Given the description of an element on the screen output the (x, y) to click on. 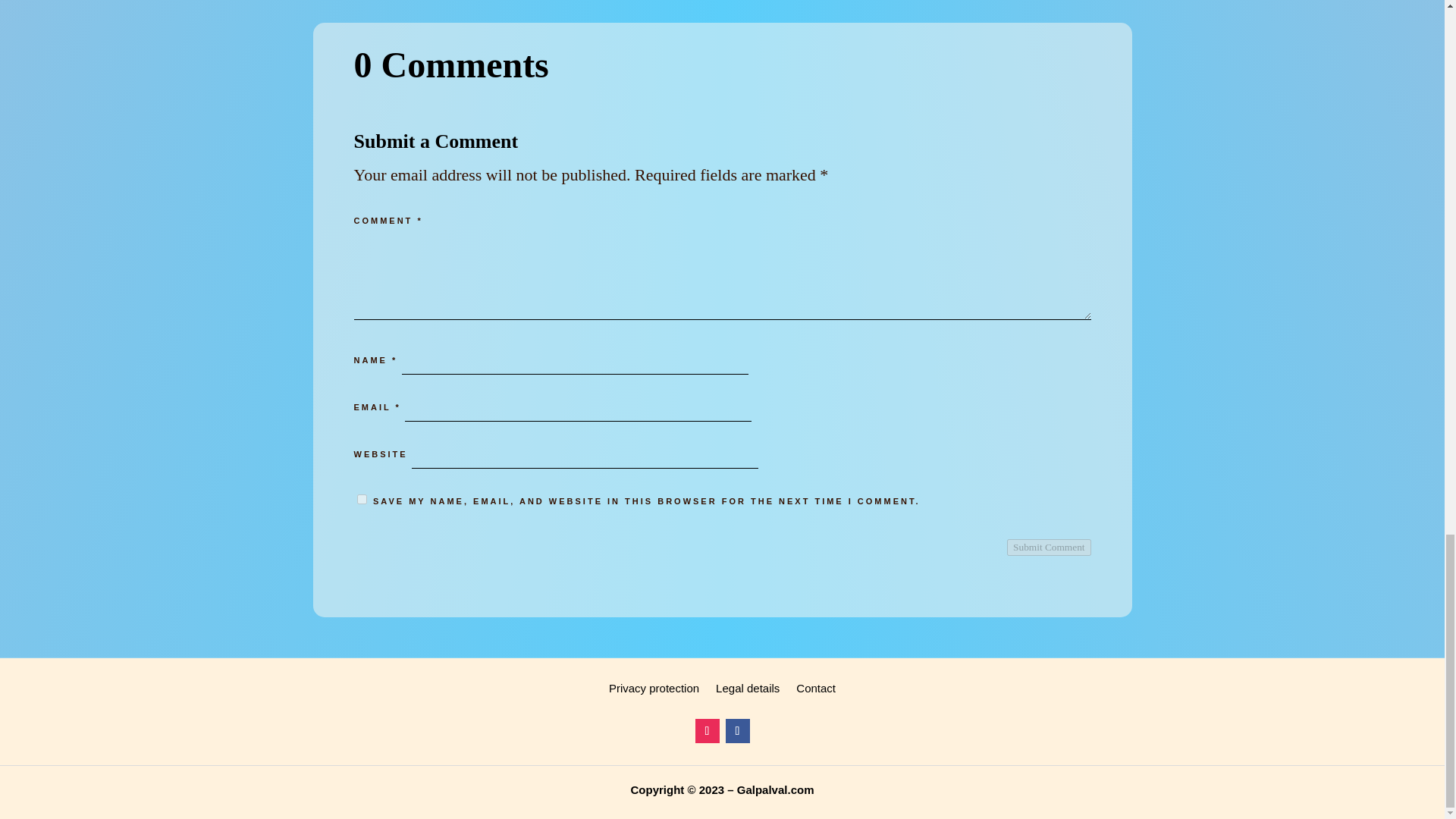
Follow on Instagram (706, 730)
Submit Comment (1048, 547)
0 Comments (721, 69)
yes (361, 499)
Privacy protection (653, 691)
Follow on Facebook (737, 730)
Legal details (747, 691)
Contact (815, 691)
